Given the description of an element on the screen output the (x, y) to click on. 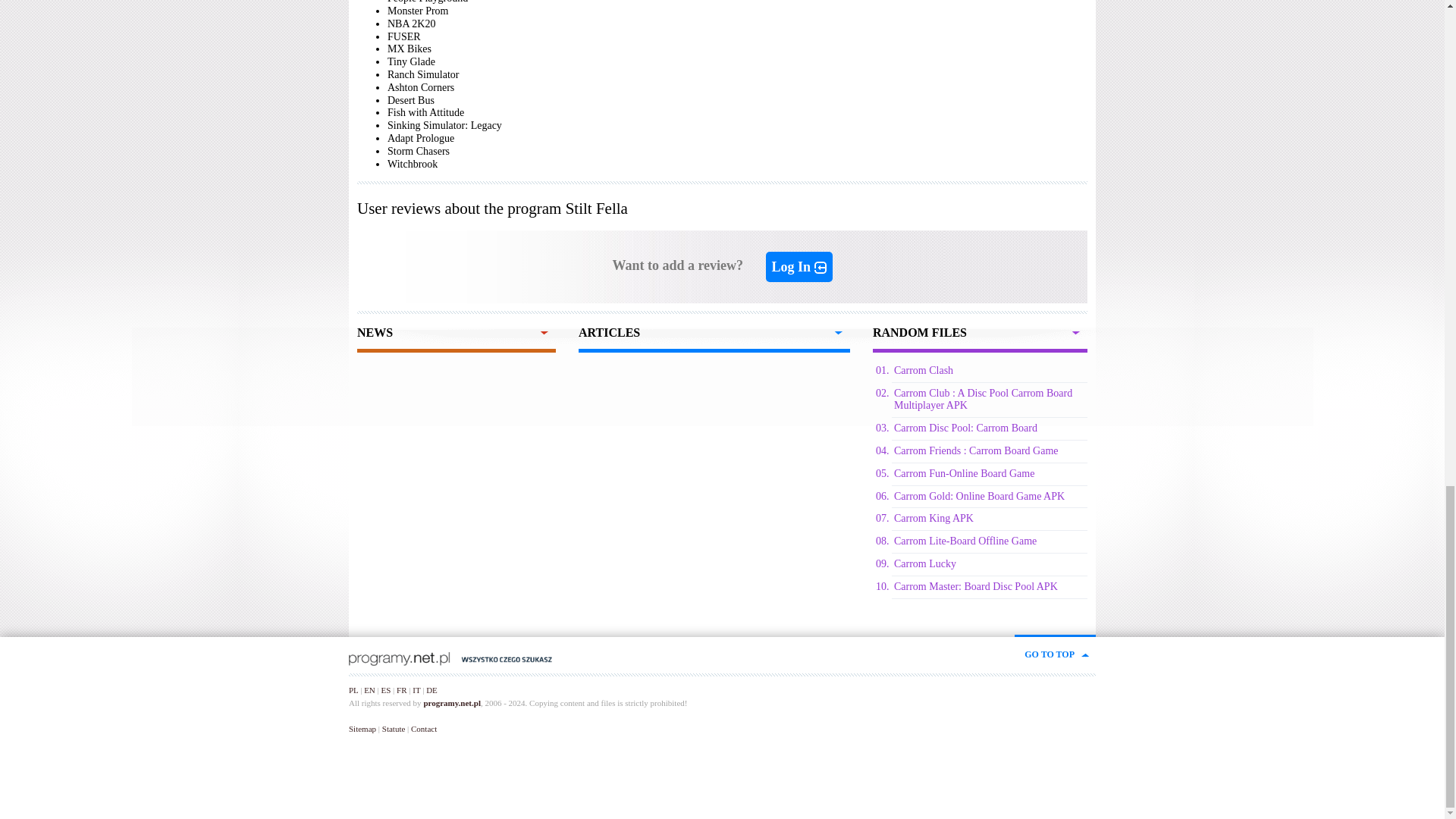
People Playground (427, 2)
Monster Prom (417, 10)
GO TO TOP (1055, 647)
